Given the description of an element on the screen output the (x, y) to click on. 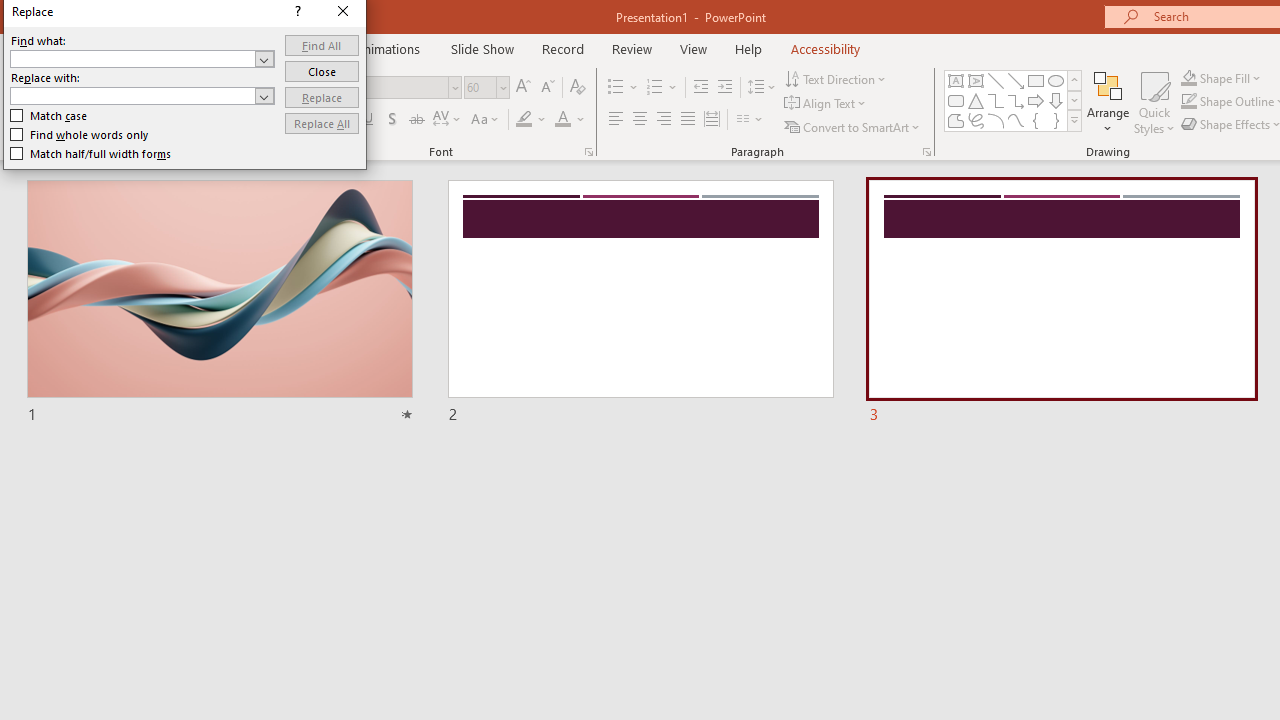
Match case (49, 115)
